Given the description of an element on the screen output the (x, y) to click on. 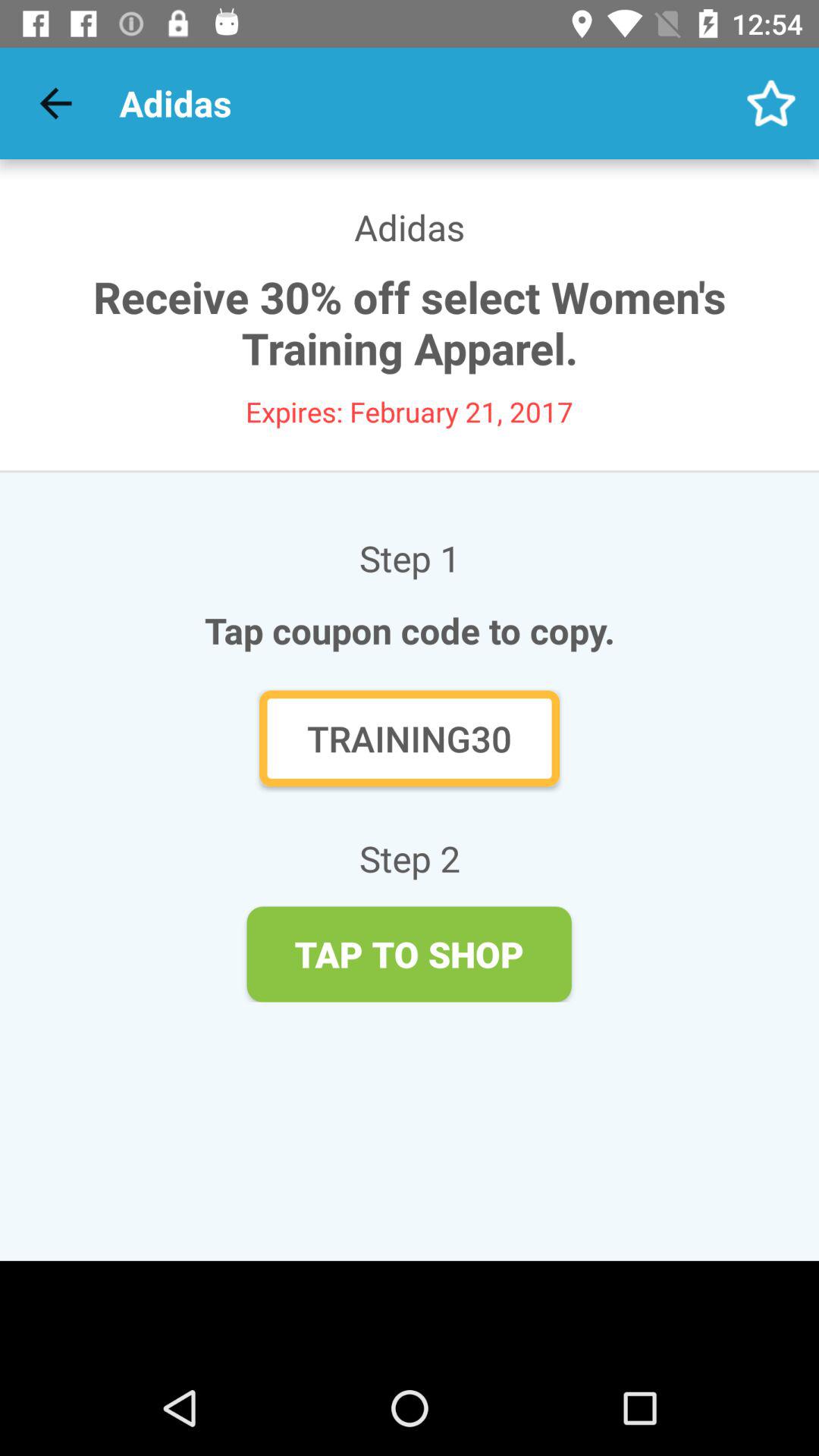
click the icon below tap to shop item (409, 1310)
